Given the description of an element on the screen output the (x, y) to click on. 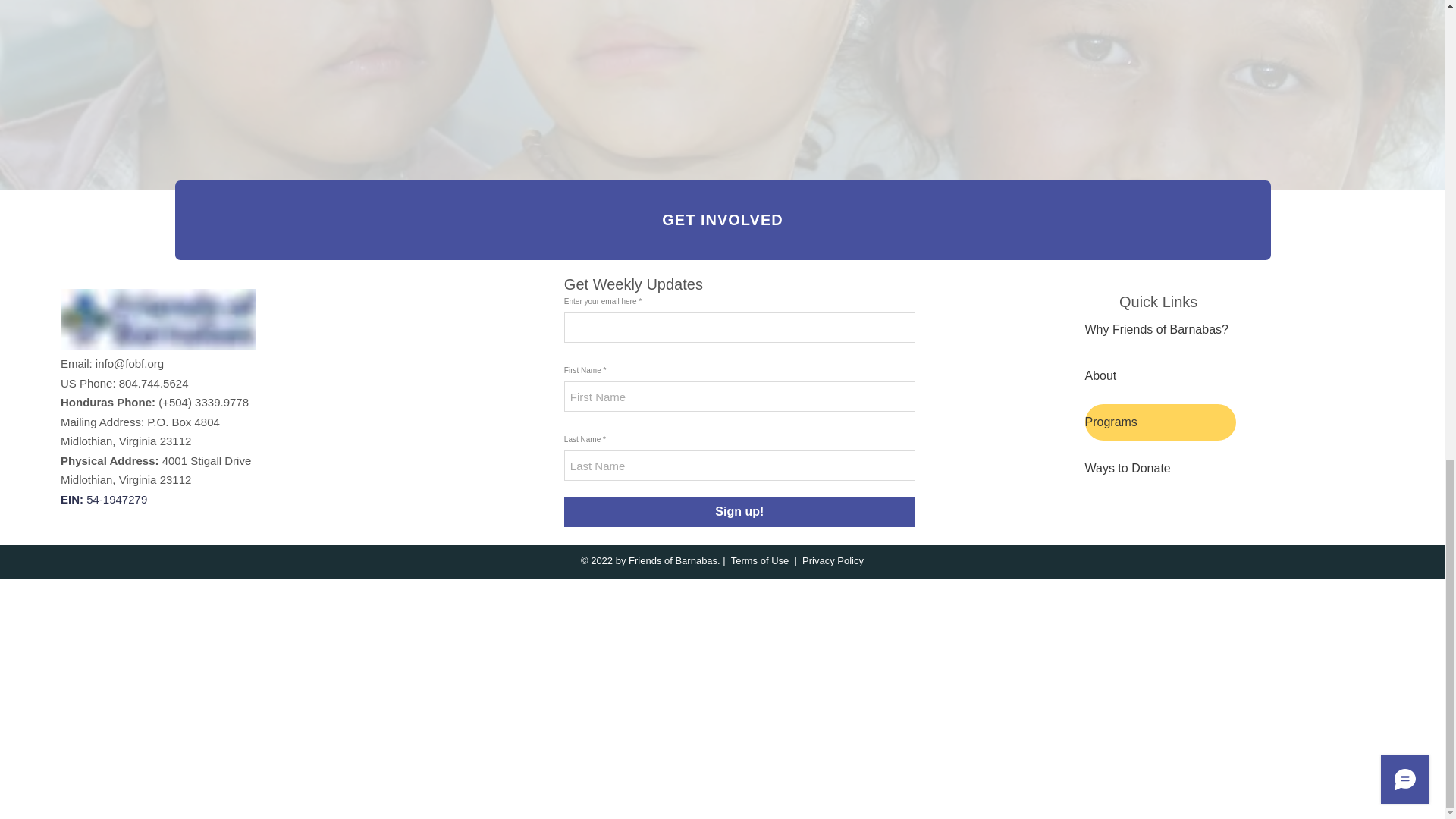
Sign up! (739, 511)
Why Friends of Barnabas? (1159, 330)
GET INVOLVED (721, 220)
Programs (1159, 422)
FoBfinal.png (158, 319)
About (1159, 375)
Ways to Donate (1159, 468)
Privacy Policy (832, 560)
Terms of Use (759, 560)
